Given the description of an element on the screen output the (x, y) to click on. 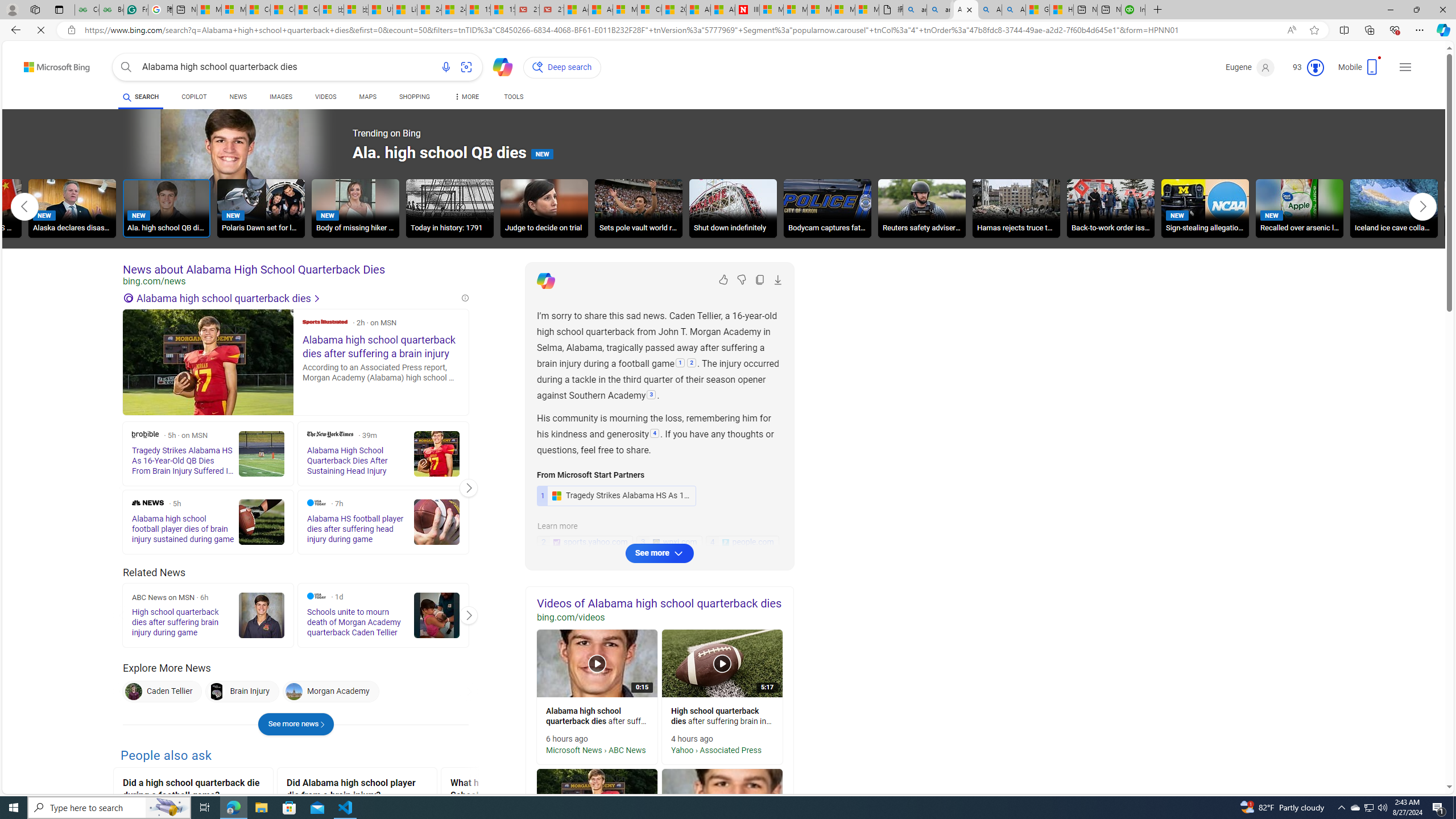
20 Ways to Boost Your Protein Intake at Every Meal (673, 9)
Caden Tellier Caden Tellier (162, 691)
amazon - Search Videos (938, 9)
Related News (153, 572)
15 Ways Modern Life Contradicts the Teachings of Jesus (502, 9)
Morgan Academy (330, 691)
Intuit QuickBooks Online - Quickbooks (1105, 9)
